Given the description of an element on the screen output the (x, y) to click on. 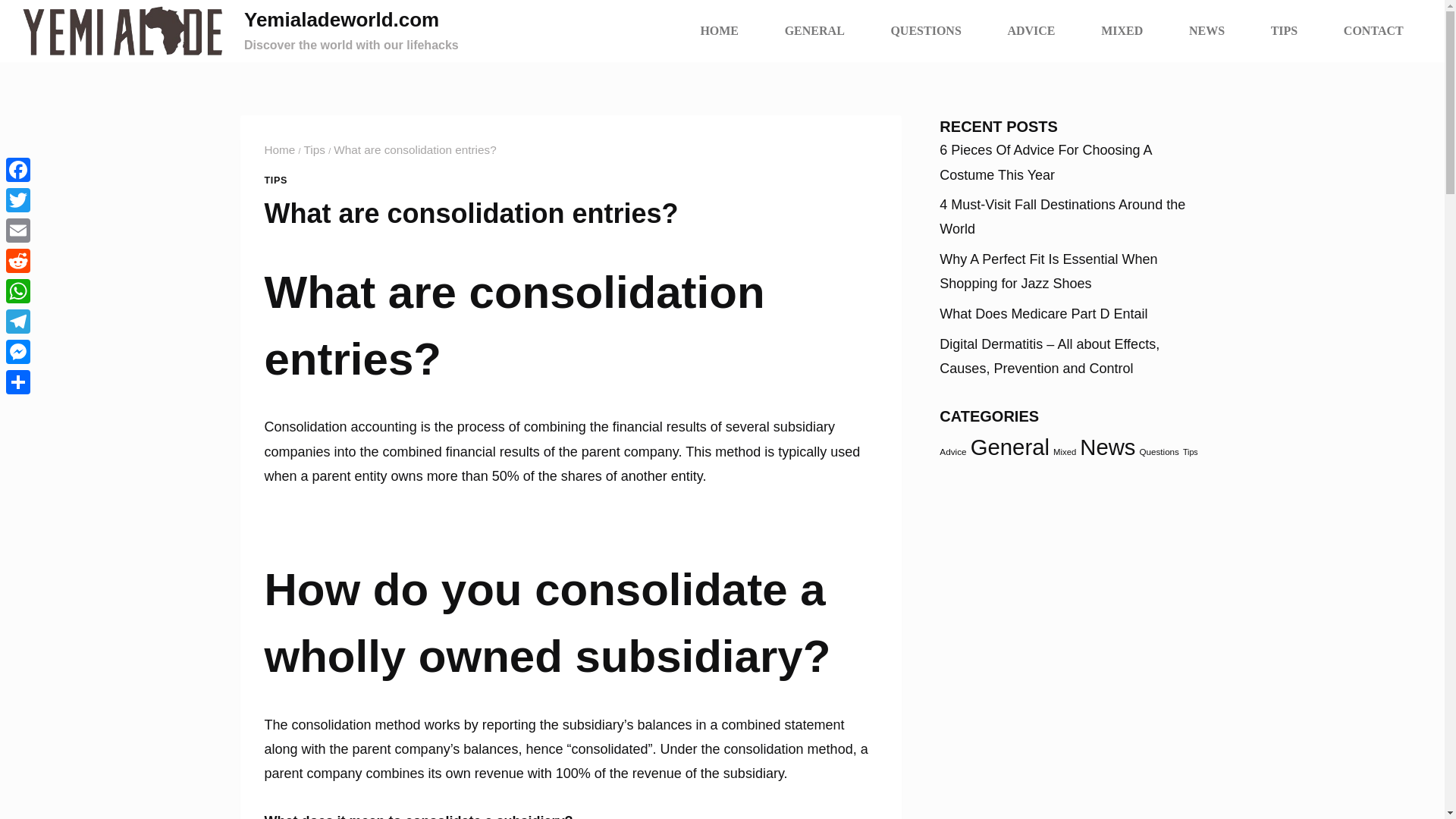
Tips (314, 149)
6 Pieces Of Advice For Choosing A Costume This Year (1045, 161)
Reddit (17, 260)
QUESTIONS (925, 30)
TIPS (274, 180)
Telegram (17, 321)
Tips (1190, 451)
MIXED (1122, 30)
Facebook (17, 169)
ADVICE (1031, 30)
Questions (1157, 451)
Messenger (17, 351)
Mixed (1063, 451)
4 Must-Visit Fall Destinations Around the World (1062, 216)
CONTACT (1373, 30)
